Given the description of an element on the screen output the (x, y) to click on. 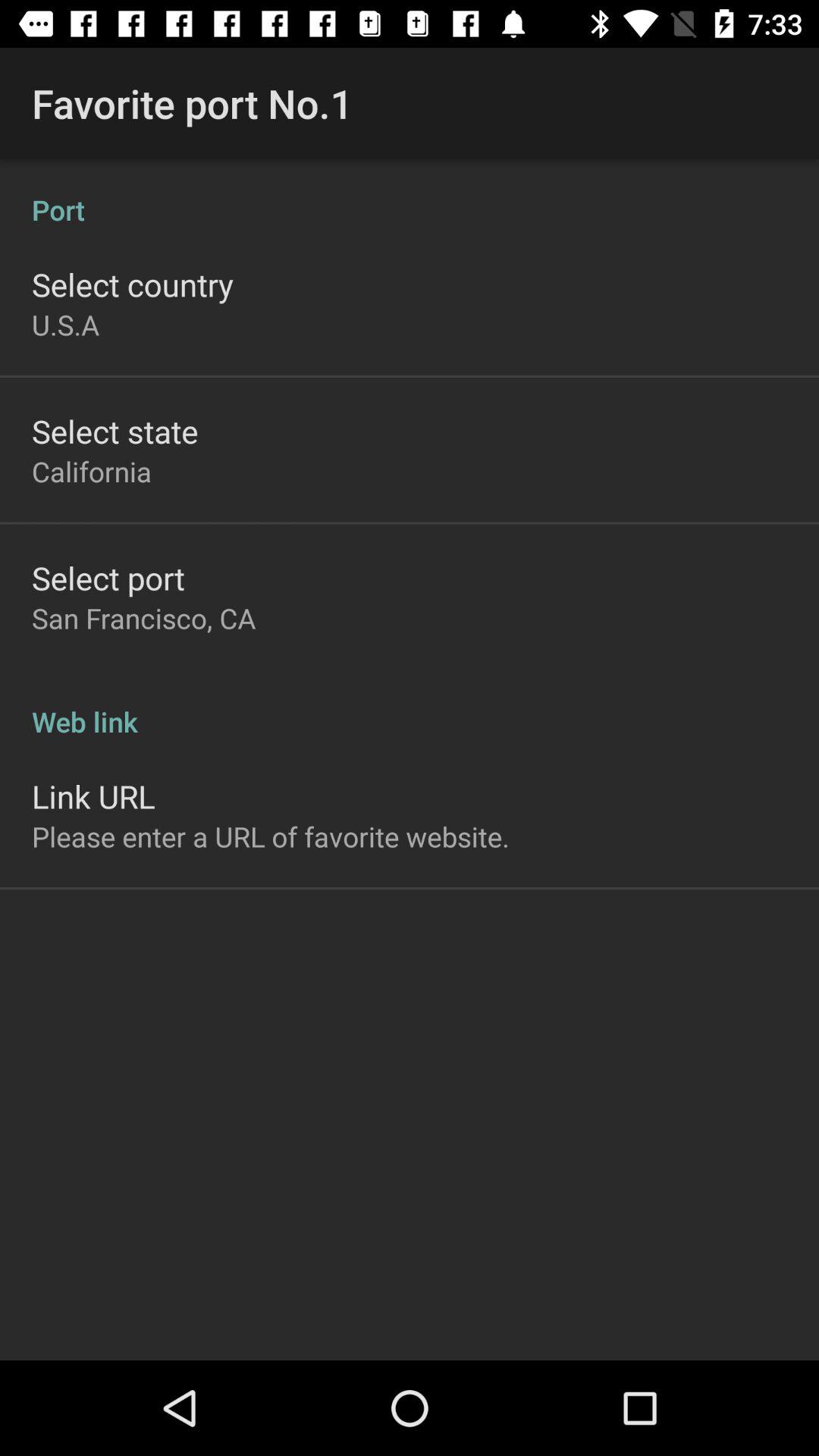
click the item above link url item (409, 705)
